Given the description of an element on the screen output the (x, y) to click on. 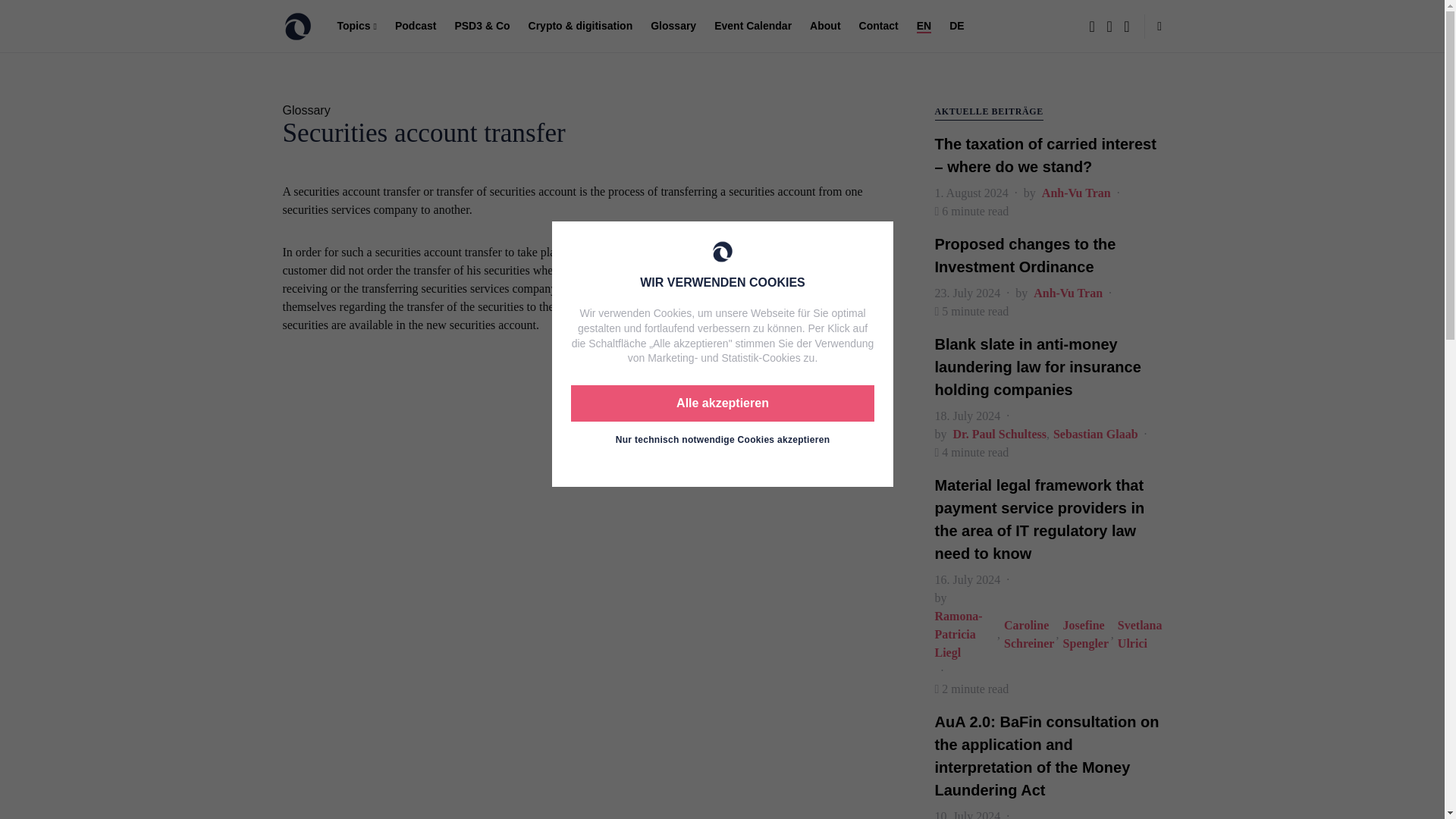
View all posts by Caroline Schreiner (1030, 634)
View all posts by Sebastian Glaab (1095, 434)
View all posts by Ramona-Patricia Liegl (965, 634)
View all posts by Josefine Spengler (1086, 634)
Topics (360, 26)
View all posts by Dr. Paul Schultess (998, 434)
Nur technisch notwendige Cookies akzeptieren (721, 439)
Alle akzeptieren (721, 402)
View all posts by Svetlana Ulrici (1139, 634)
View all posts by Anh-Vu Tran (1067, 293)
View all posts by Anh-Vu Tran (1076, 193)
